Given the description of an element on the screen output the (x, y) to click on. 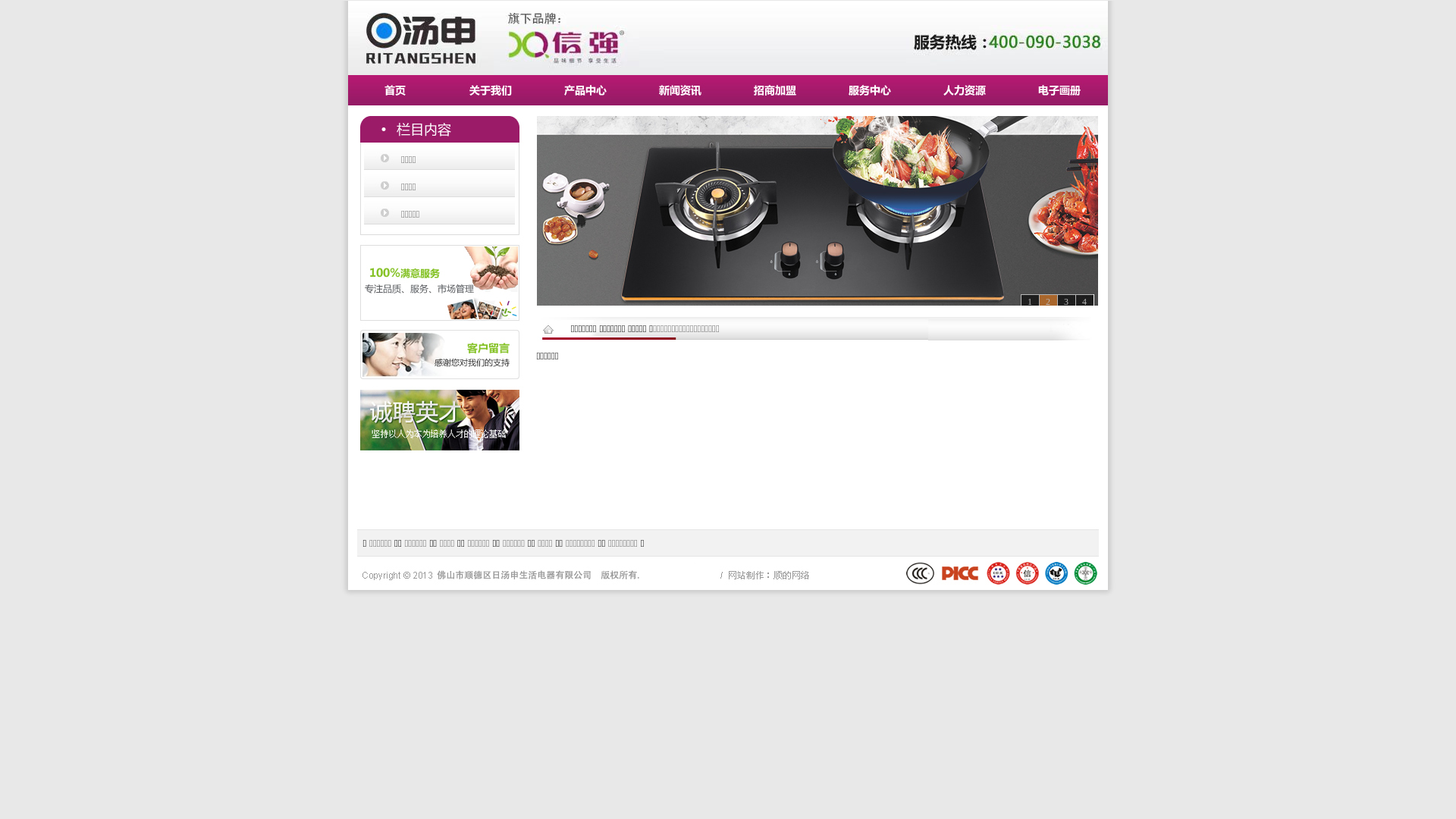
2 Element type: text (1047, 301)
3 Element type: text (1066, 301)
1 Element type: text (1029, 301)
4 Element type: text (1084, 301)
